Given the description of an element on the screen output the (x, y) to click on. 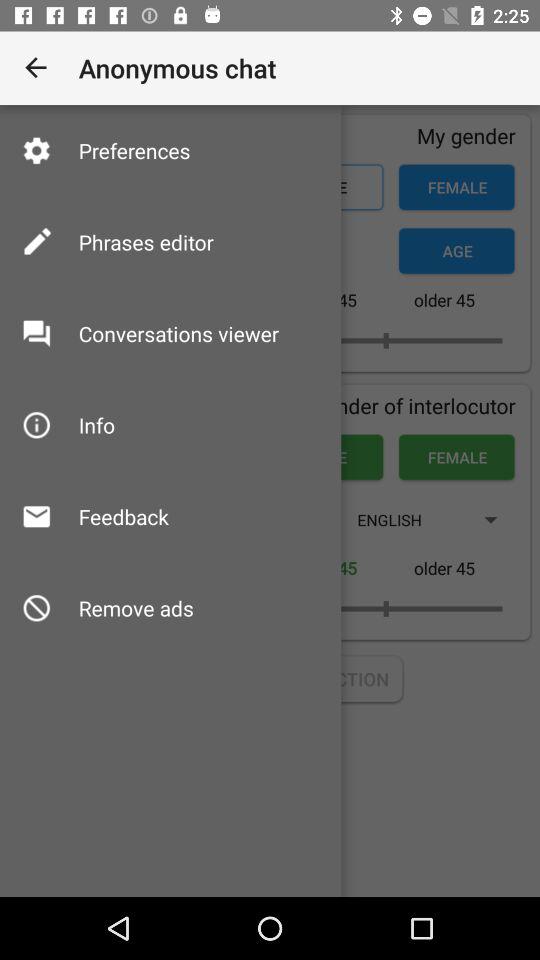
tap the icon next to the male icon (96, 424)
